Given the description of an element on the screen output the (x, y) to click on. 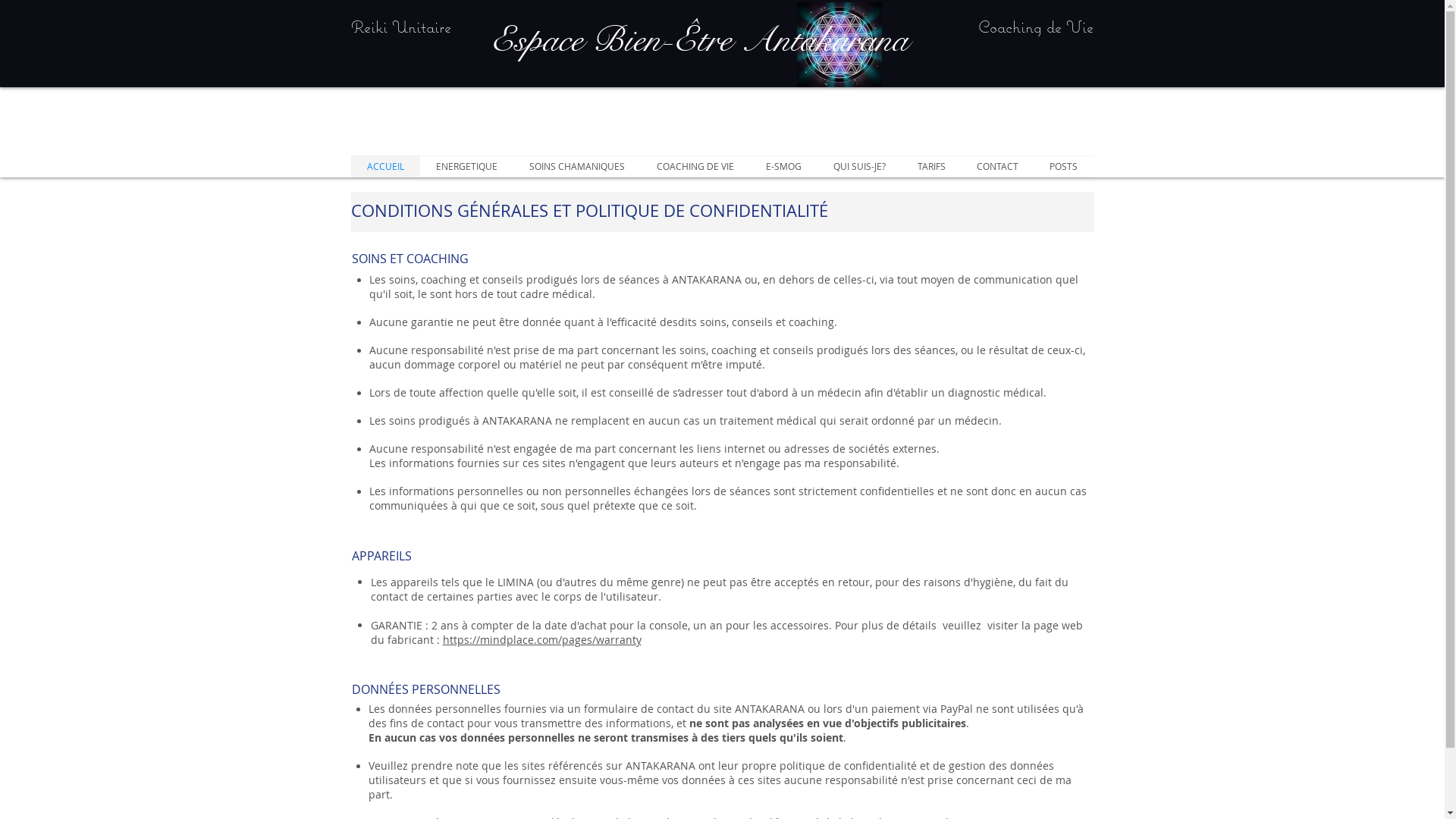
TARIFS Element type: text (930, 166)
QUI SUIS-JE? Element type: text (859, 166)
https://mindplace.com/pages/warranty Element type: text (541, 639)
POSTS Element type: text (1063, 166)
E-SMOG Element type: text (782, 166)
ENERGETIQUE Element type: text (466, 166)
ACCUEIL Element type: text (384, 166)
COACHING DE VIE Element type: text (694, 166)
SOINS CHAMANIQUES Element type: text (576, 166)
CONTACT Element type: text (997, 166)
